Given the description of an element on the screen output the (x, y) to click on. 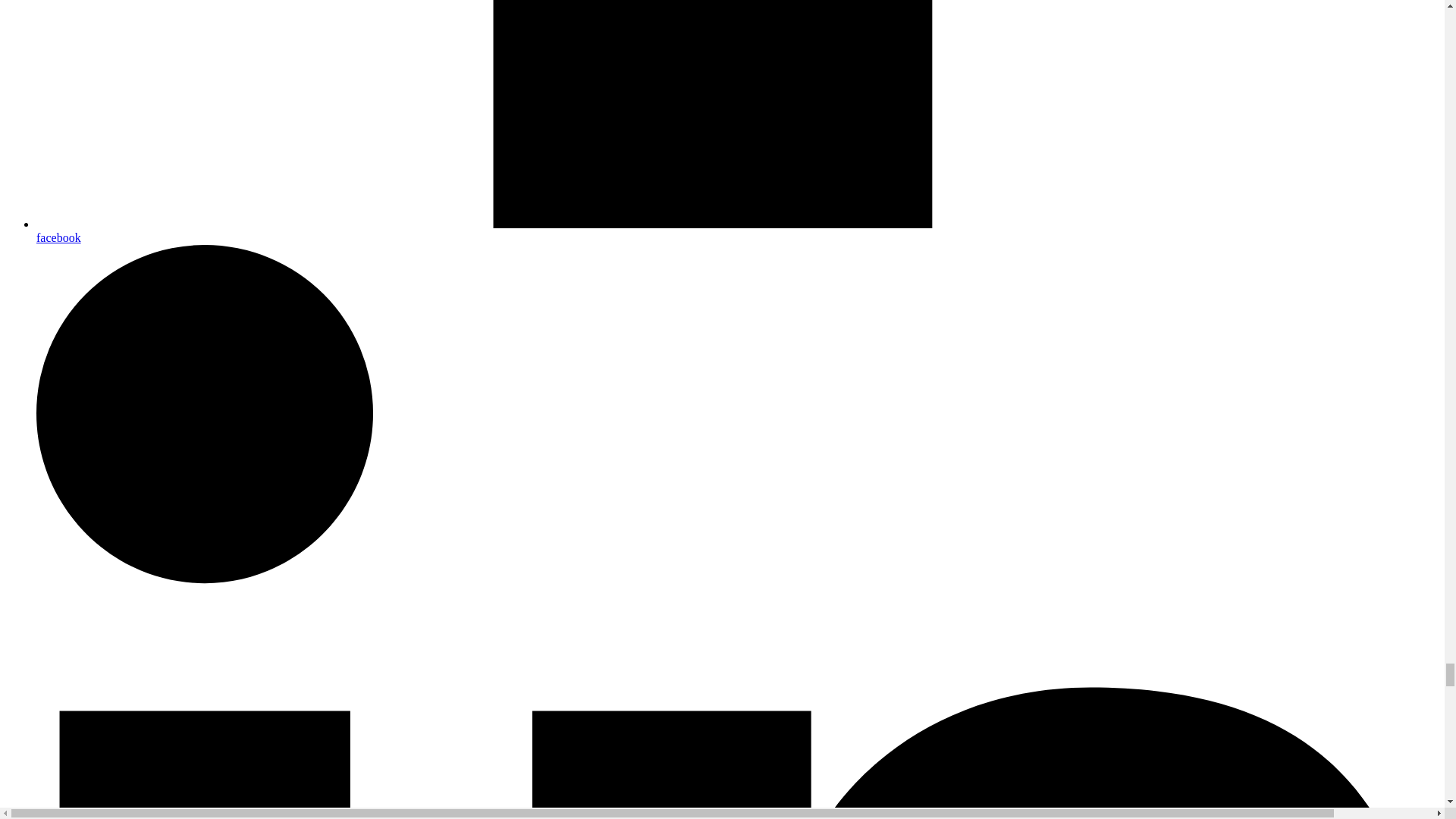
facebook (737, 230)
